Given the description of an element on the screen output the (x, y) to click on. 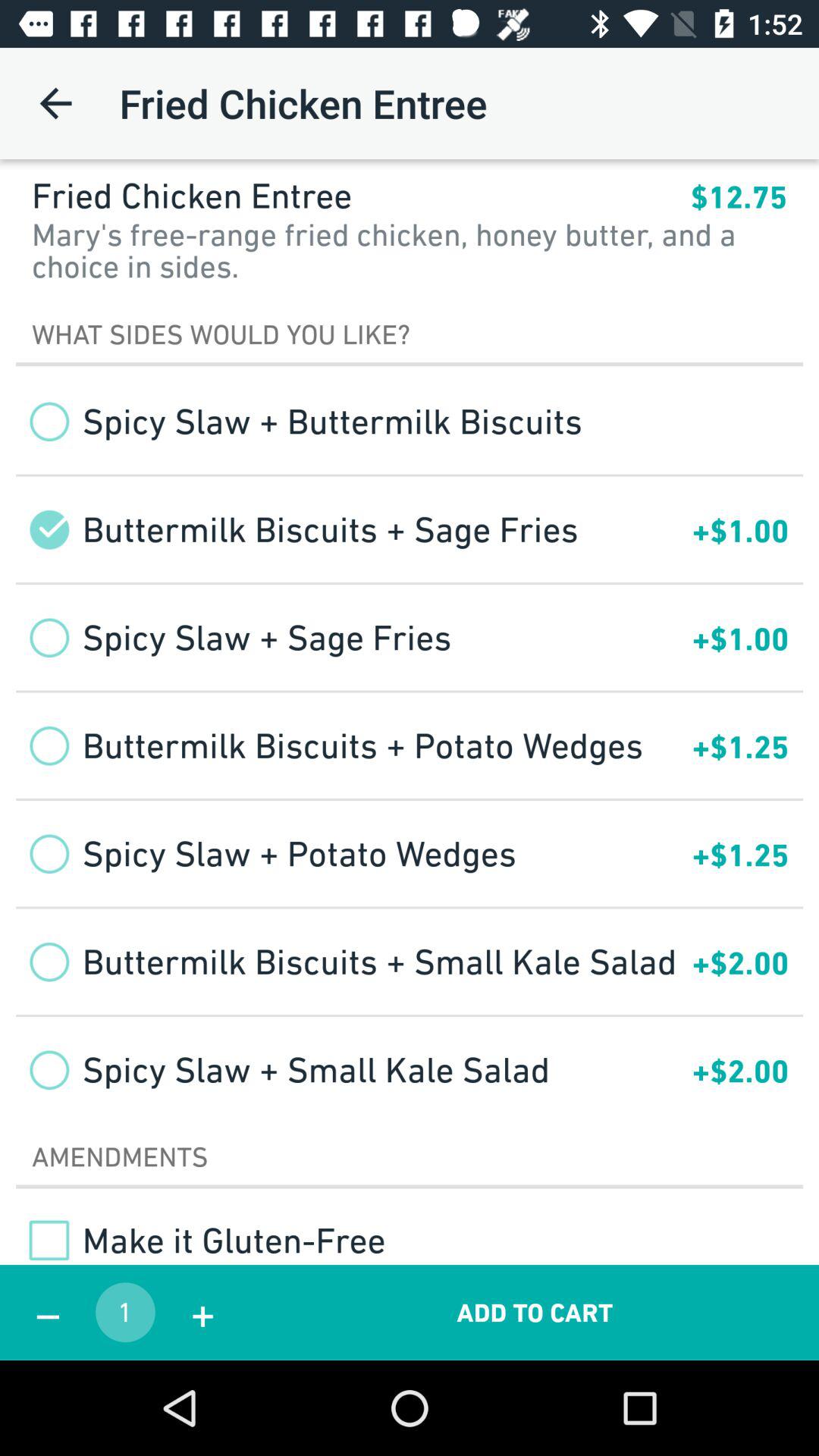
choose app to the left of the fried chicken entree icon (55, 103)
